Given the description of an element on the screen output the (x, y) to click on. 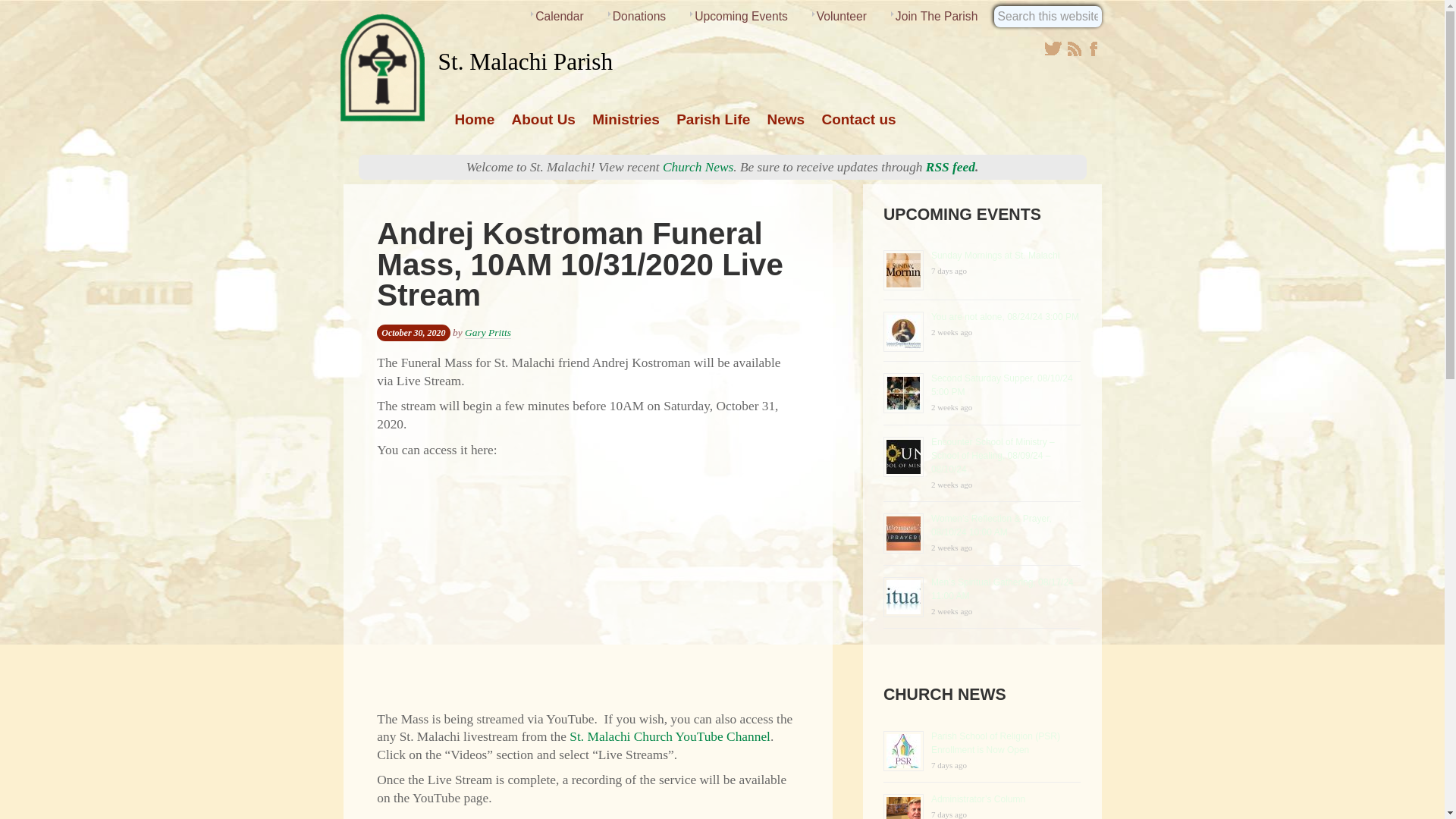
Ministries (625, 122)
Parish Life (713, 122)
Donations (638, 16)
Upcoming Events (962, 214)
Church News (944, 694)
Join The Parish (936, 16)
Upcoming Events (740, 16)
About Us (543, 122)
